Given the description of an element on the screen output the (x, y) to click on. 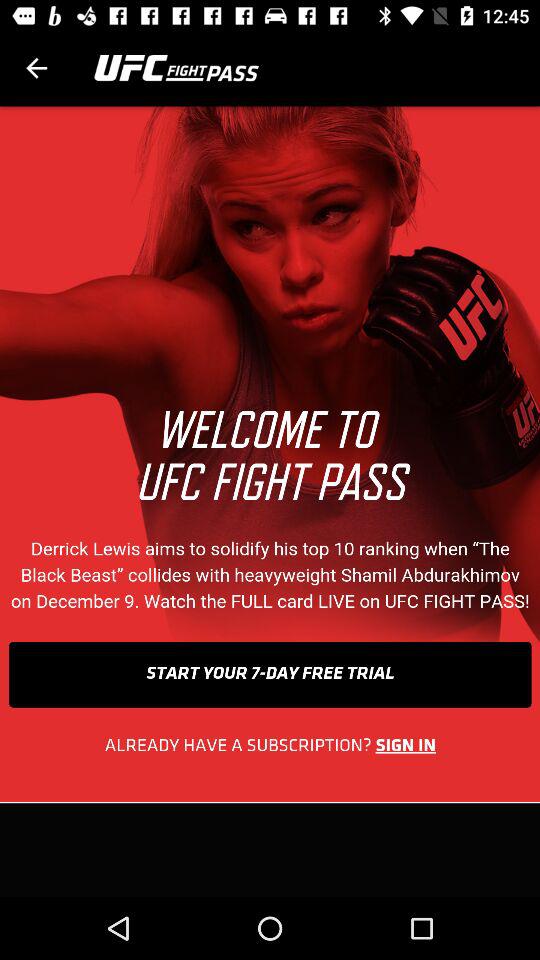
welcome to ufc fight pass (270, 501)
